Given the description of an element on the screen output the (x, y) to click on. 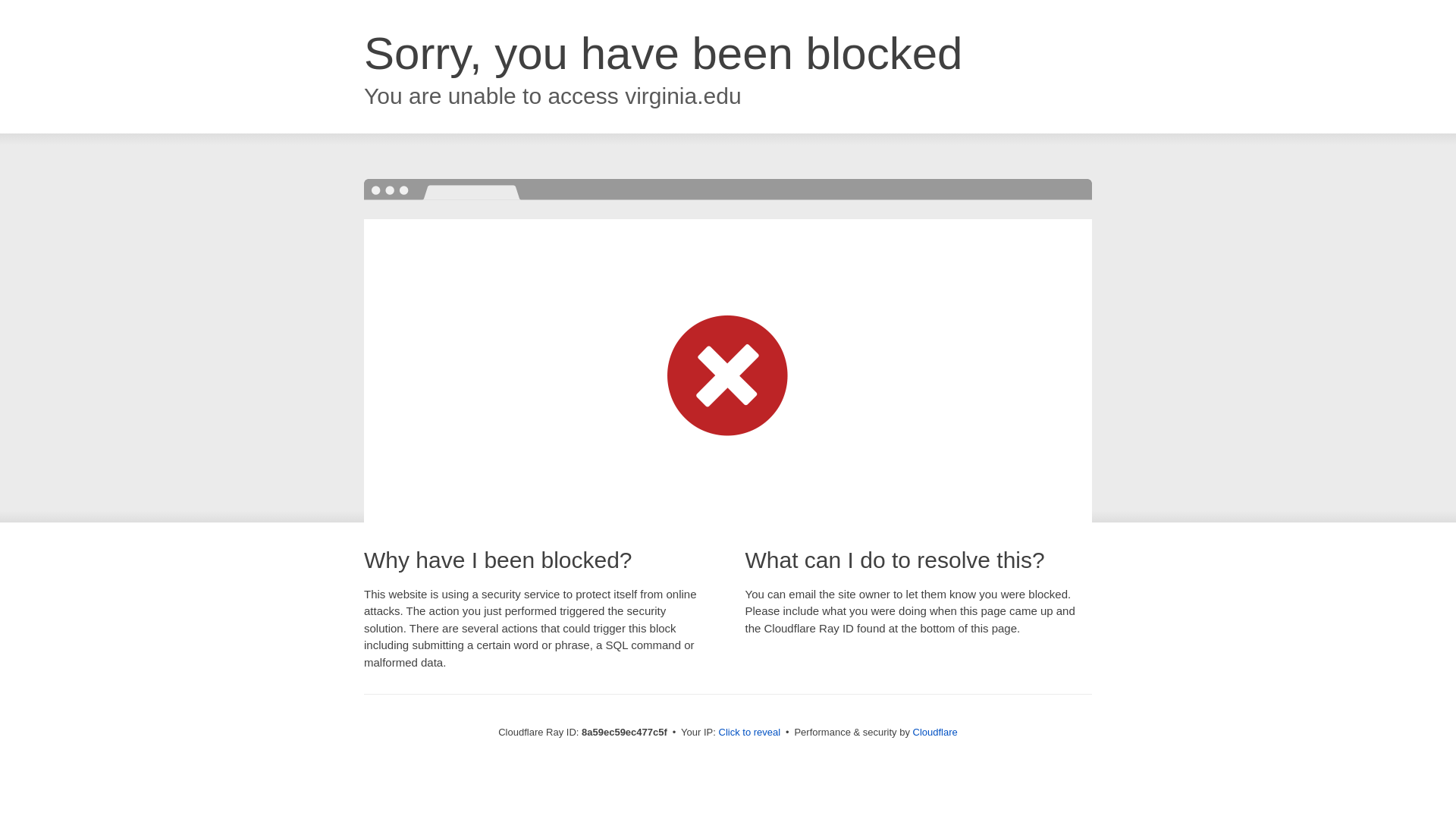
Cloudflare (935, 731)
Click to reveal (749, 732)
